Given the description of an element on the screen output the (x, y) to click on. 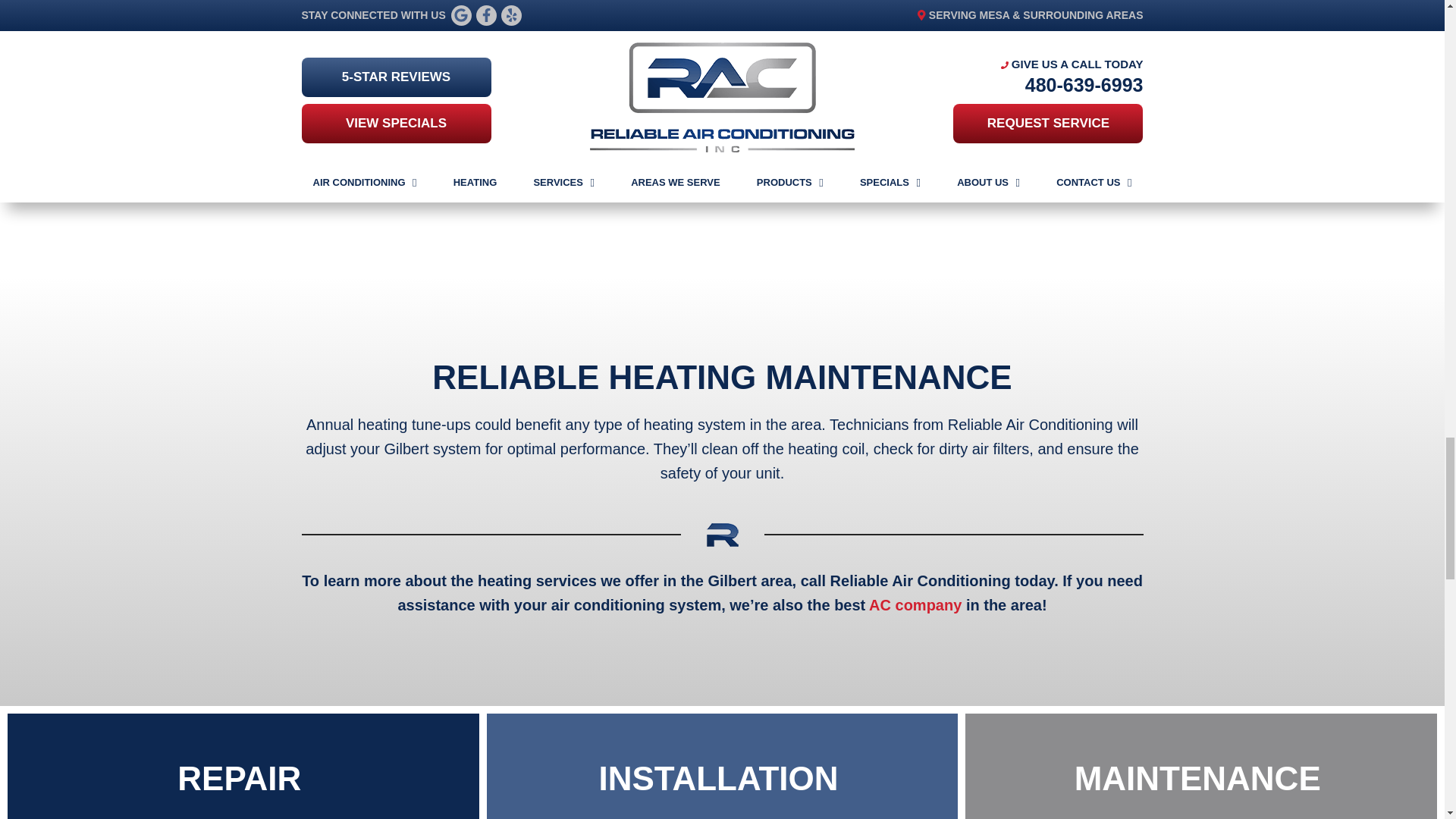
AC company (914, 605)
